Given the description of an element on the screen output the (x, y) to click on. 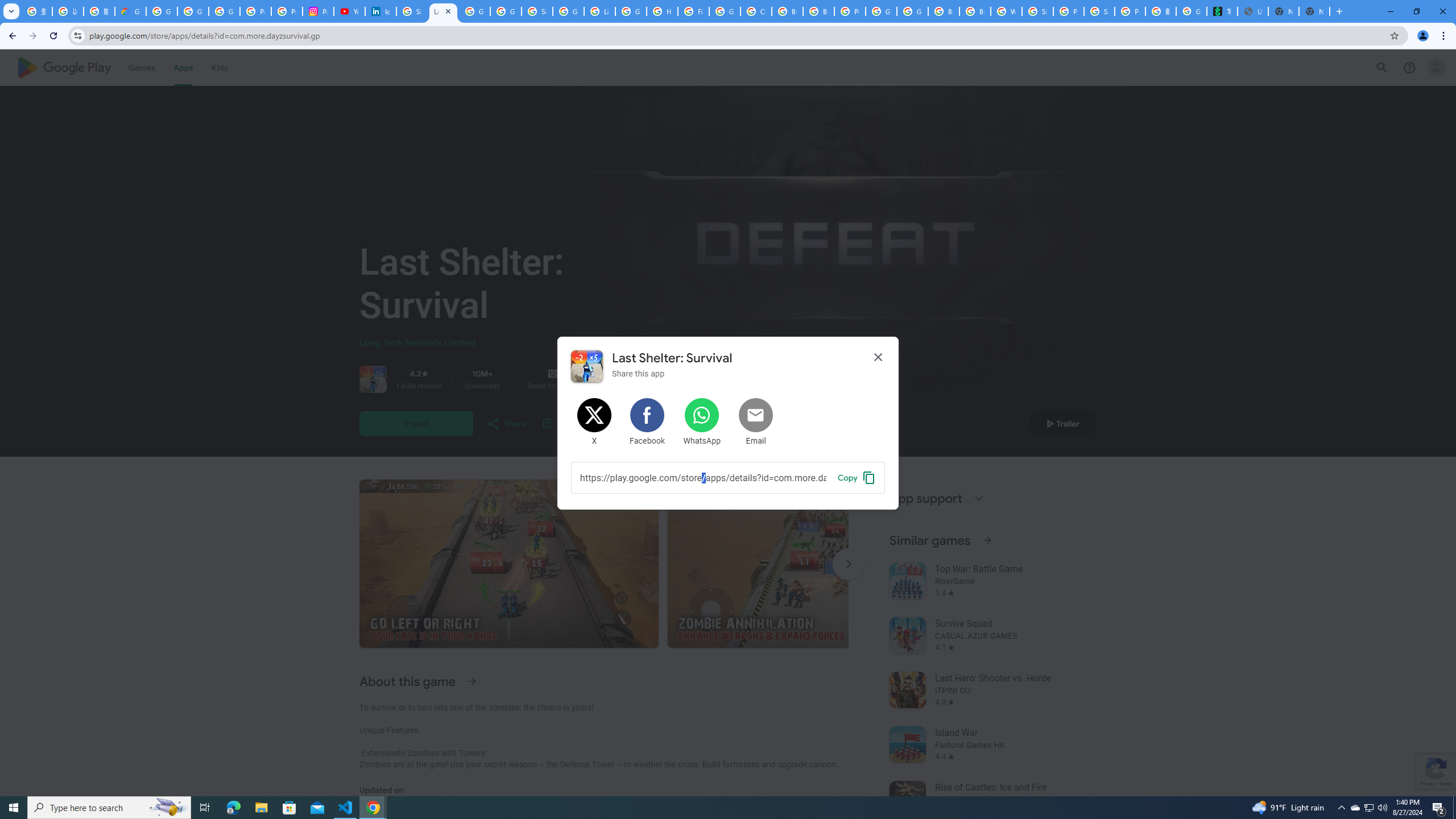
Sign in - Google Accounts (536, 11)
